Given the description of an element on the screen output the (x, y) to click on. 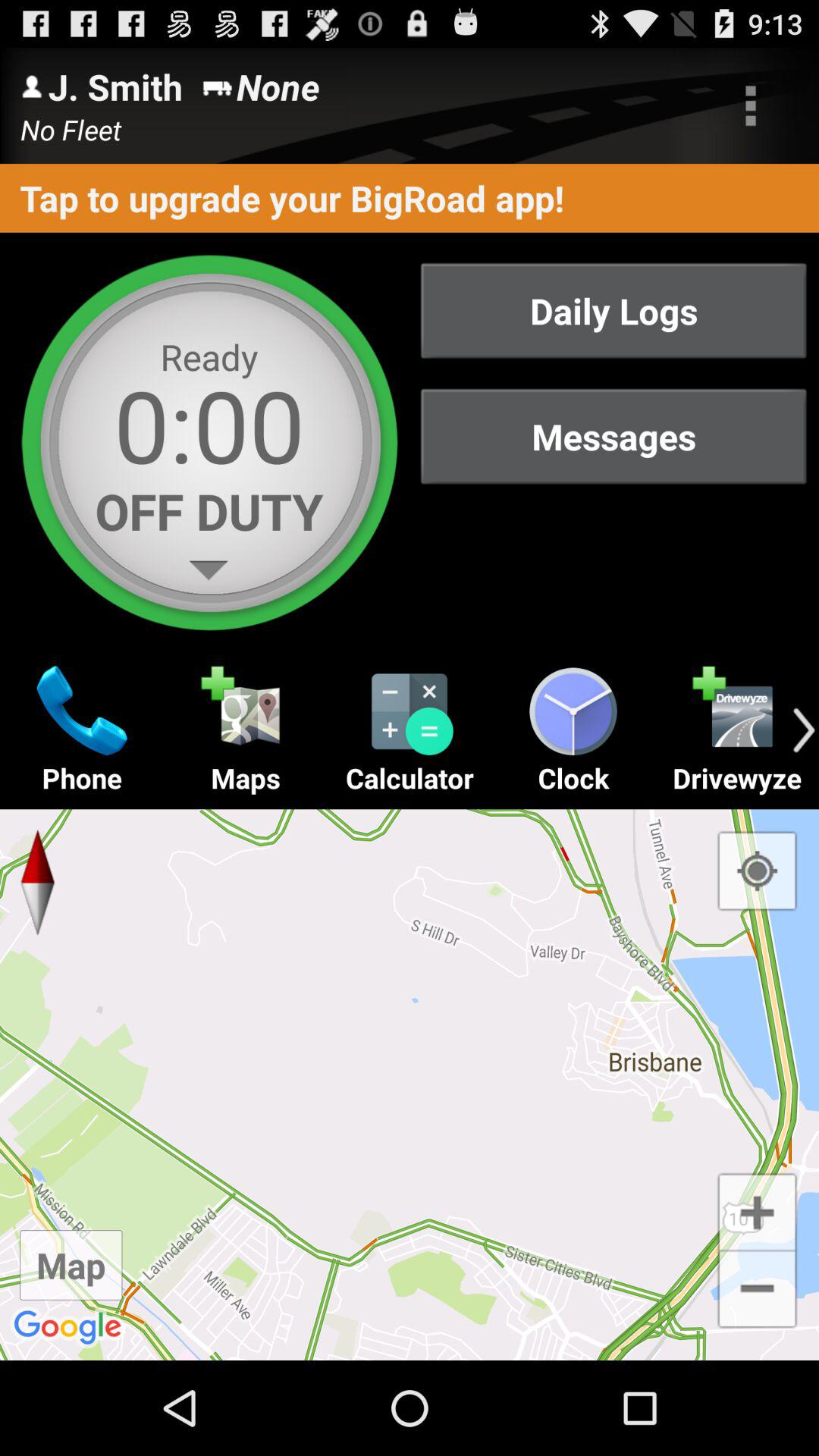
zoom out map (757, 1290)
